Given the description of an element on the screen output the (x, y) to click on. 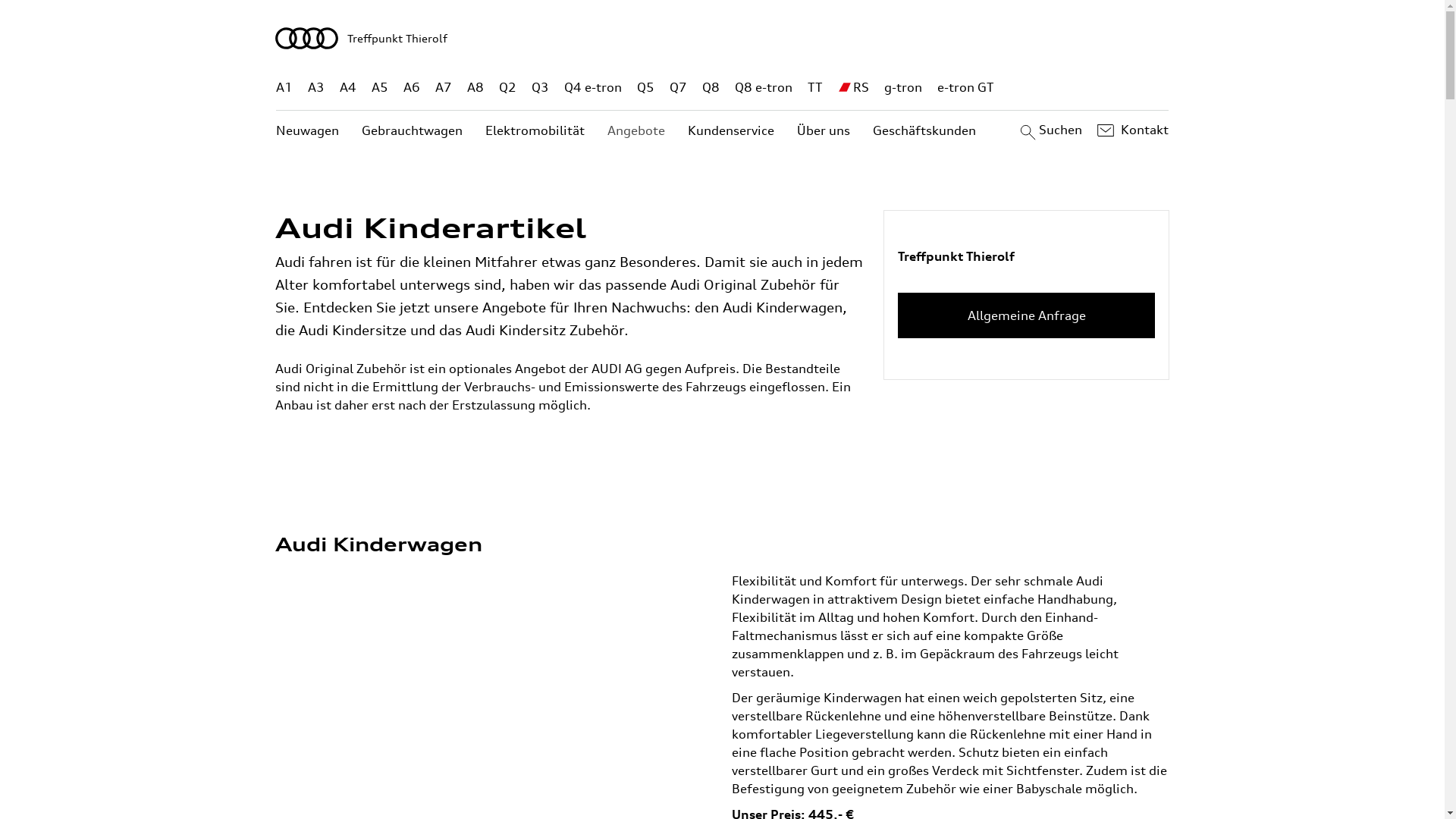
g-tron Element type: text (903, 87)
A6 Element type: text (411, 87)
Q8 e-tron Element type: text (763, 87)
Kontakt Element type: text (1130, 130)
Q5 Element type: text (645, 87)
e-tron GT Element type: text (965, 87)
RS Element type: text (861, 87)
Angebote Element type: text (636, 130)
TT Element type: text (814, 87)
Q3 Element type: text (540, 87)
Q7 Element type: text (678, 87)
Suchen Element type: text (1049, 130)
Kundenservice Element type: text (730, 130)
A1 Element type: text (284, 87)
Neuwagen Element type: text (307, 130)
Gebrauchtwagen Element type: text (411, 130)
Q4 e-tron Element type: text (592, 87)
A3 Element type: text (315, 87)
A5 Element type: text (379, 87)
Allgemeine Anfrage Element type: text (1025, 315)
A4 Element type: text (347, 87)
Q2 Element type: text (507, 87)
A8 Element type: text (475, 87)
Q8 Element type: text (710, 87)
Treffpunkt Thierolf Element type: text (722, 38)
A7 Element type: text (443, 87)
